Given the description of an element on the screen output the (x, y) to click on. 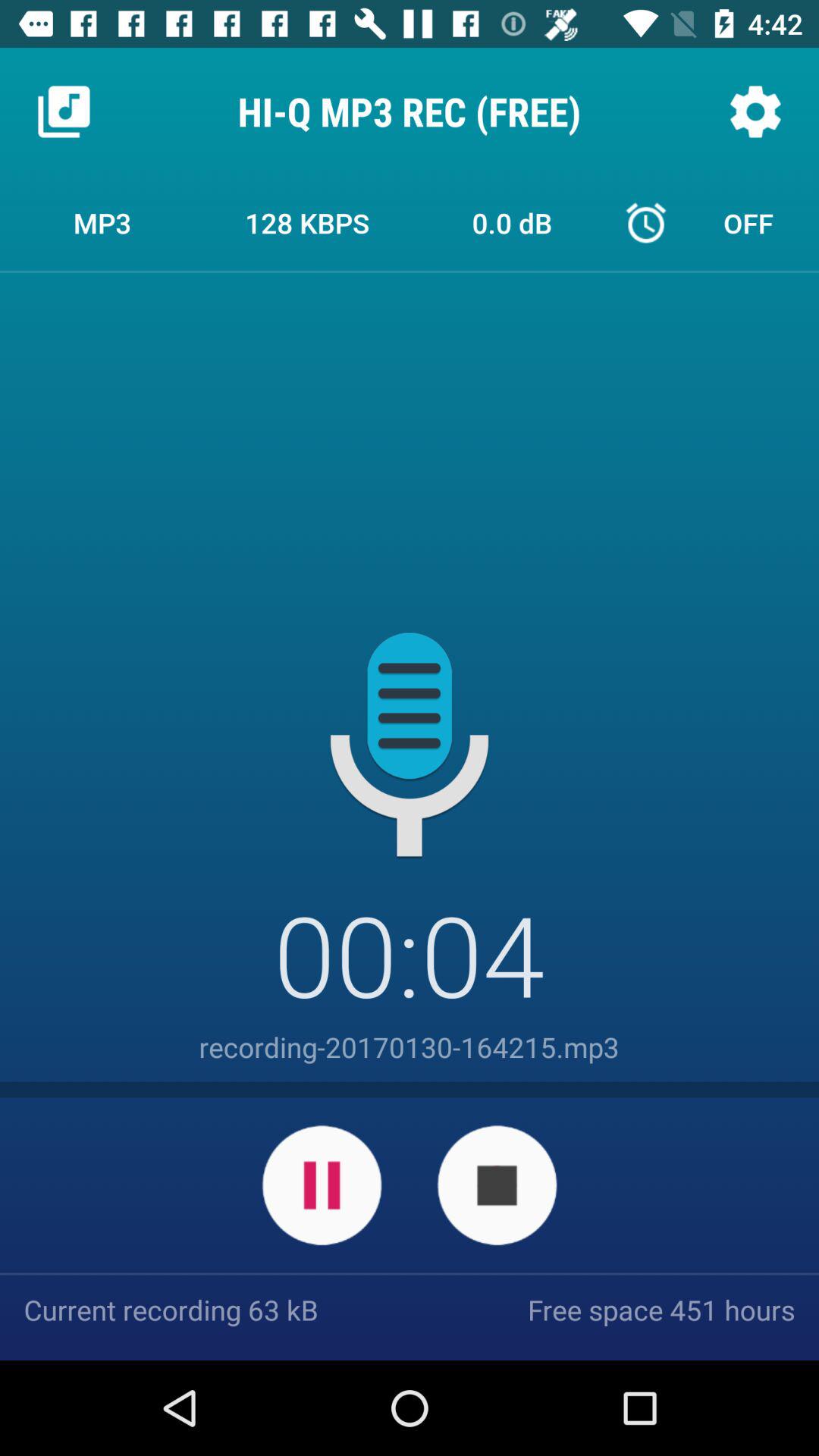
select 128 kbps icon (306, 222)
